Given the description of an element on the screen output the (x, y) to click on. 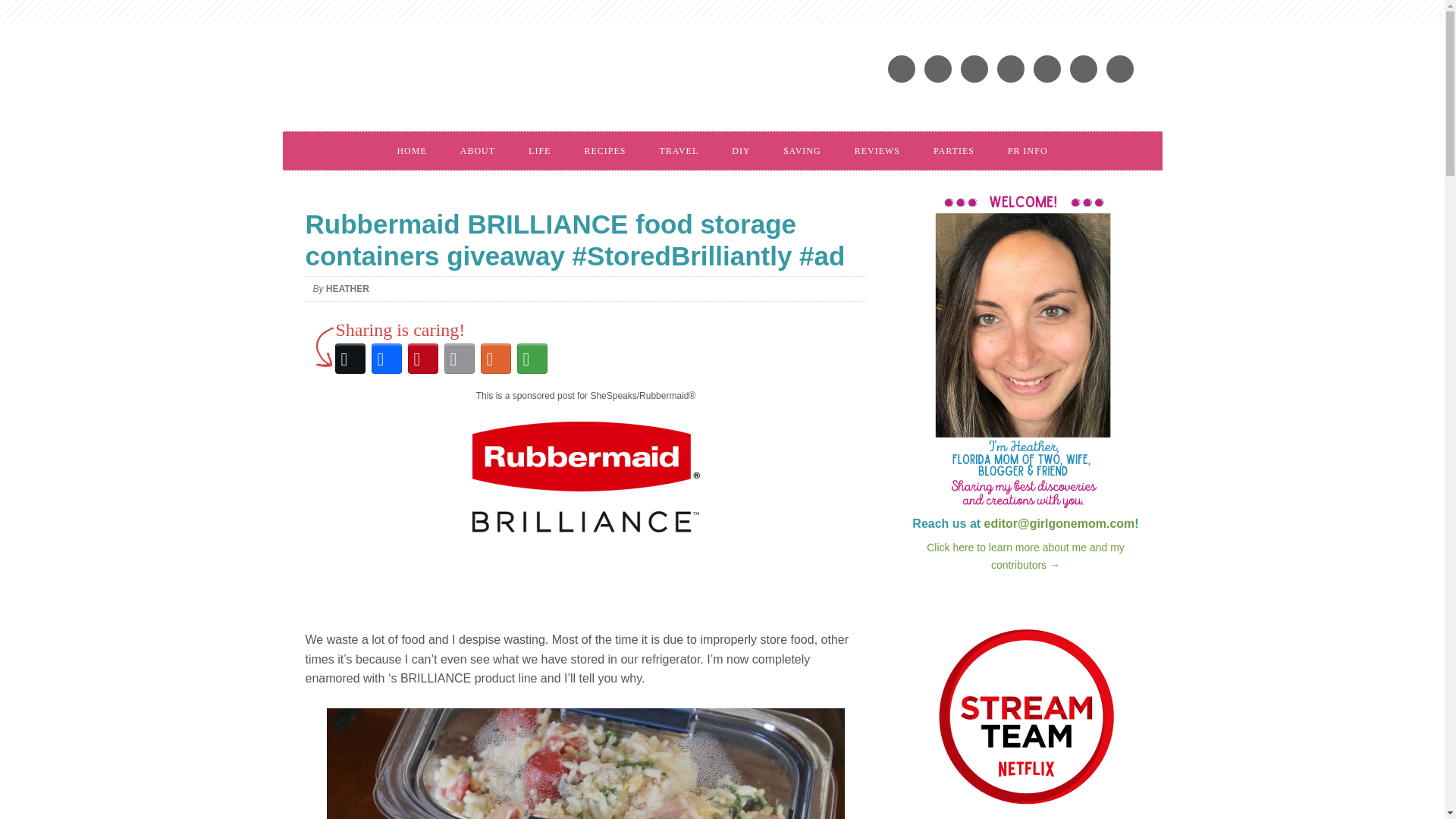
RECIPES (604, 150)
More Options (531, 358)
LIFE (539, 150)
DIY (740, 150)
Email This (459, 358)
Pinterest (422, 358)
TRAVEL (678, 150)
Yummly (495, 358)
Girl Gone Mom (509, 82)
HOME (411, 150)
ABOUT (478, 150)
Facebook (386, 358)
